Given the description of an element on the screen output the (x, y) to click on. 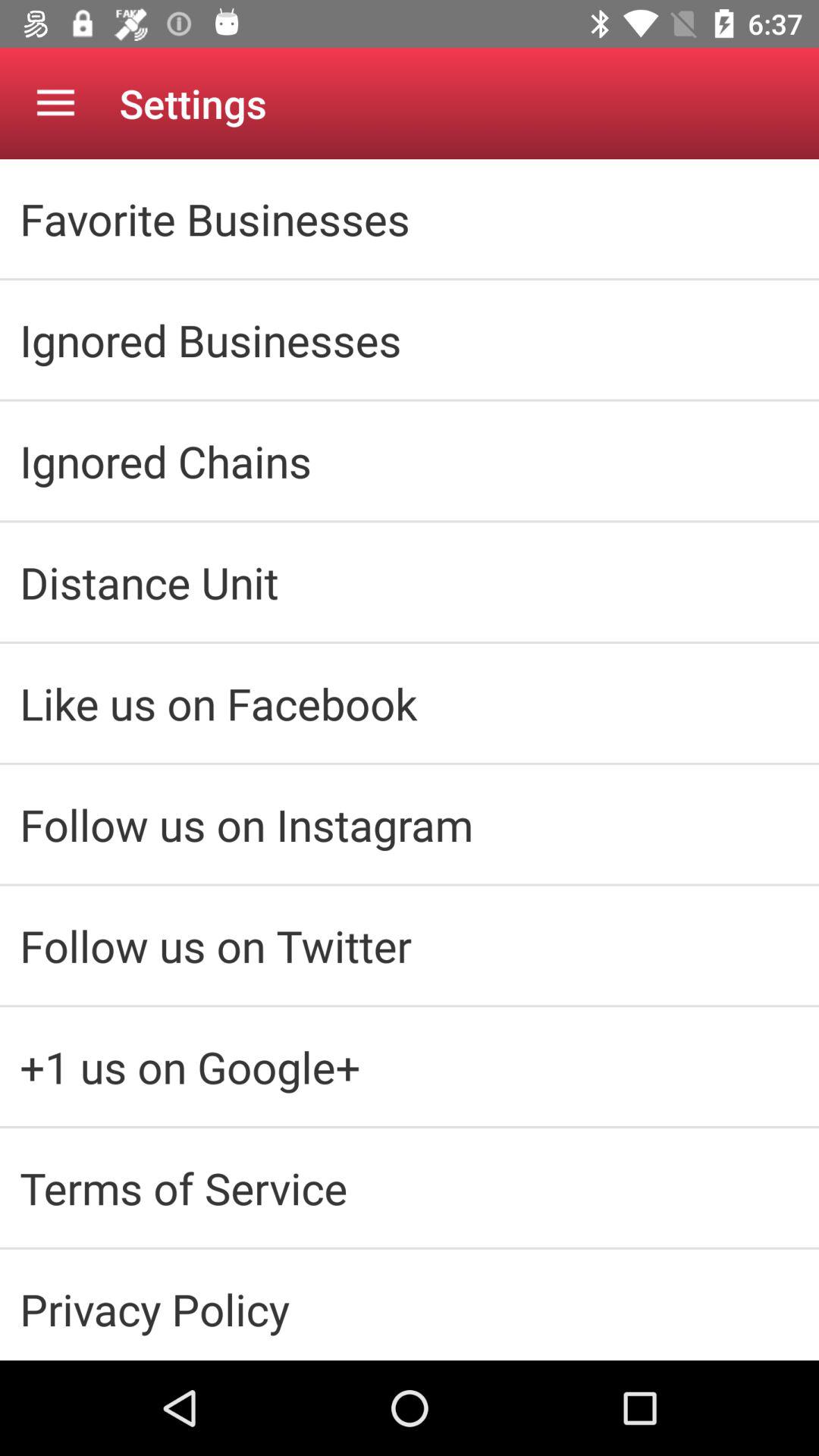
select the app next to the settings icon (55, 103)
